Given the description of an element on the screen output the (x, y) to click on. 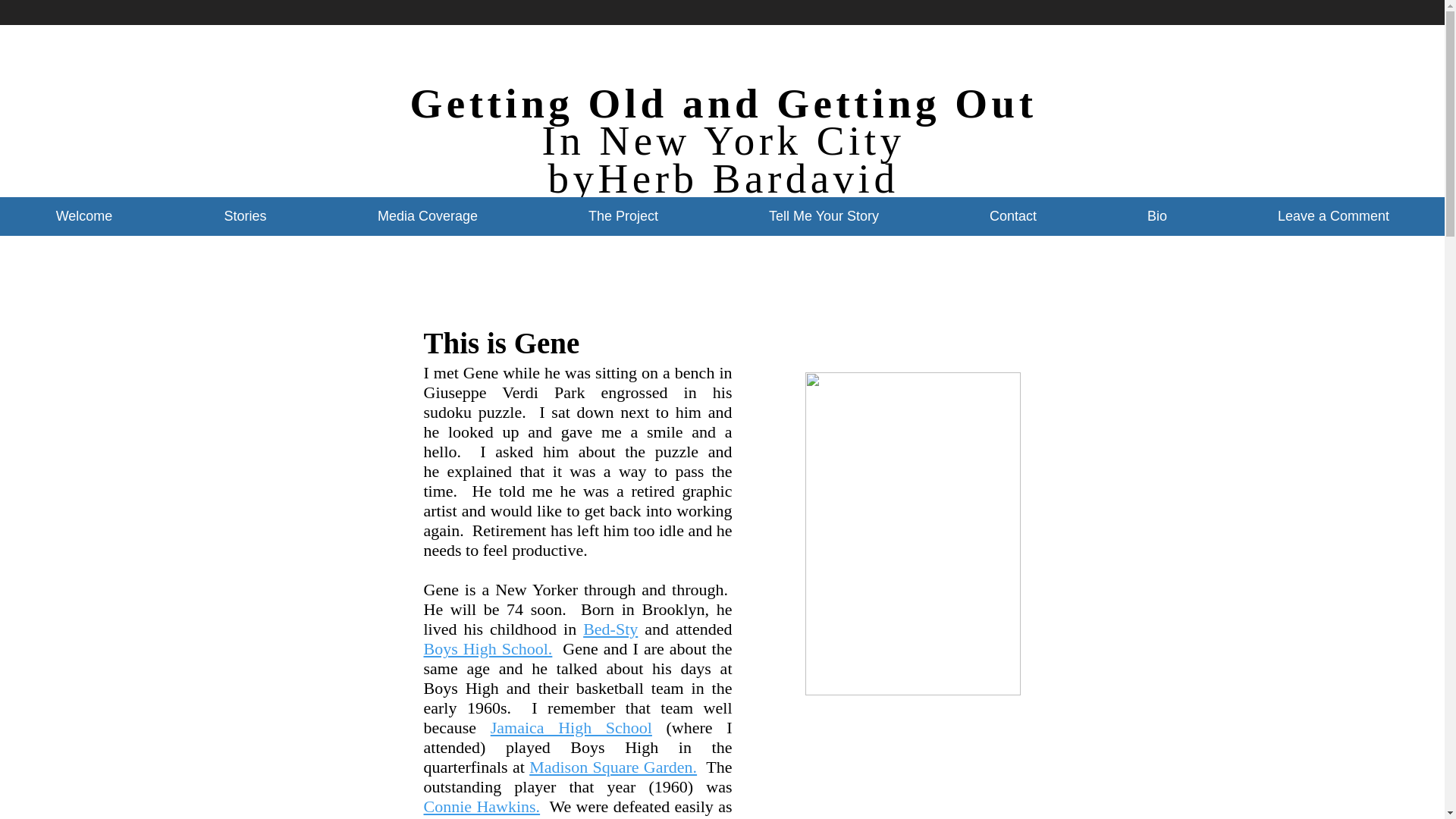
Bio (1157, 216)
Welcome (84, 216)
Bed-Sty (610, 628)
Connie Hawkins. (481, 805)
Boys High School. (487, 648)
Jamaica High School (571, 727)
The Project (622, 216)
Tell Me Your Story (823, 216)
Stories (244, 216)
Getting Old and Getting Out (723, 103)
